Given the description of an element on the screen output the (x, y) to click on. 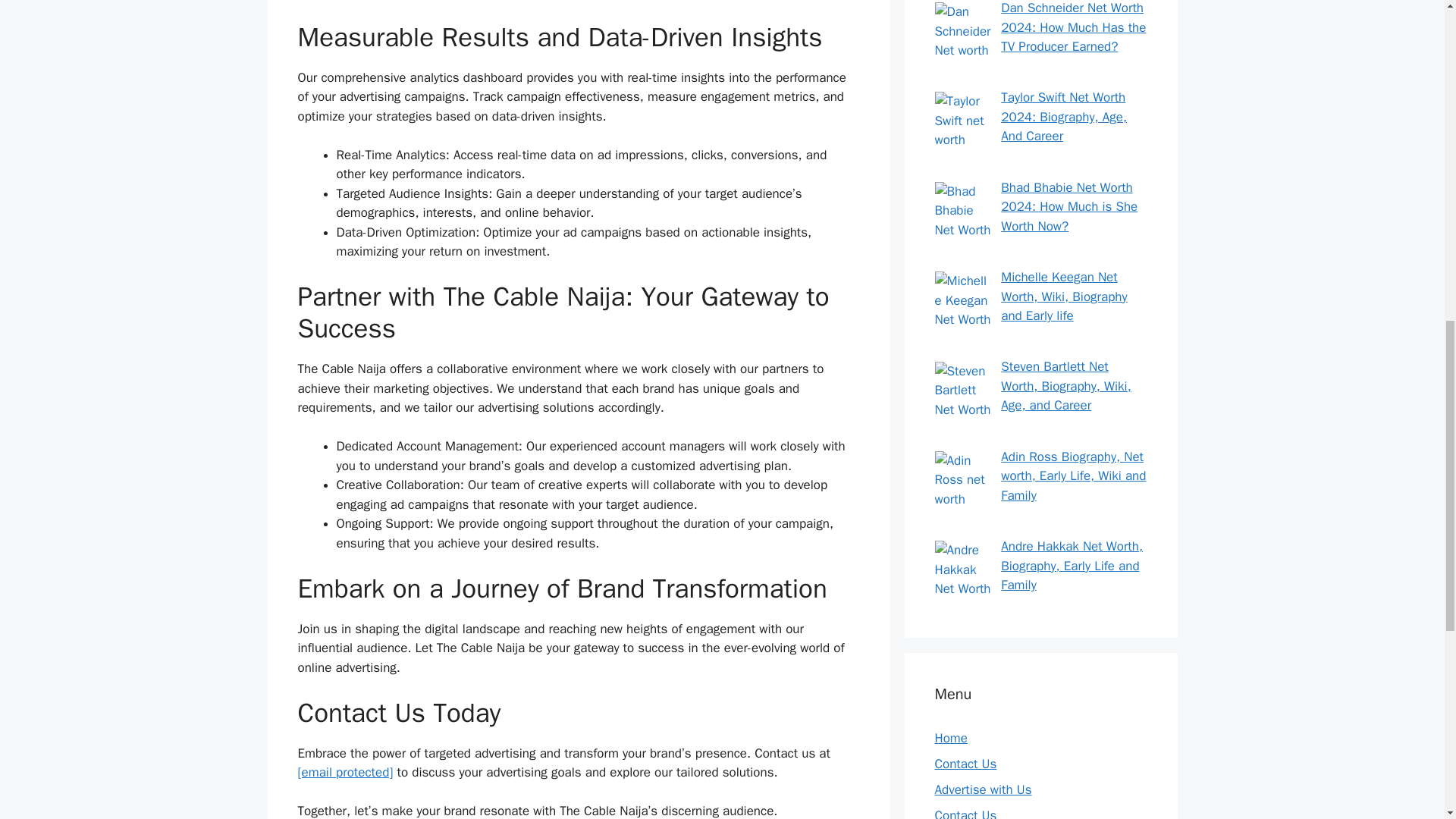
Contact Us (964, 813)
Bhad Bhabie Net Worth 2024: How Much is She Worth Now? (1069, 206)
Andre Hakkak Net Worth, Biography, Early Life and Family (1071, 565)
Taylor Swift Net Worth 2024: Biography, Age, And Career (1063, 116)
Contact Us (964, 763)
Home (950, 738)
Michelle Keegan Net Worth, Wiki, Biography and Early life (1063, 296)
Adin Ross Biography, Net worth, Early Life, Wiki and Family (1073, 475)
Advertise with Us (982, 789)
Steven Bartlett Net Worth, Biography, Wiki, Age, and Career (1066, 385)
